Given the description of an element on the screen output the (x, y) to click on. 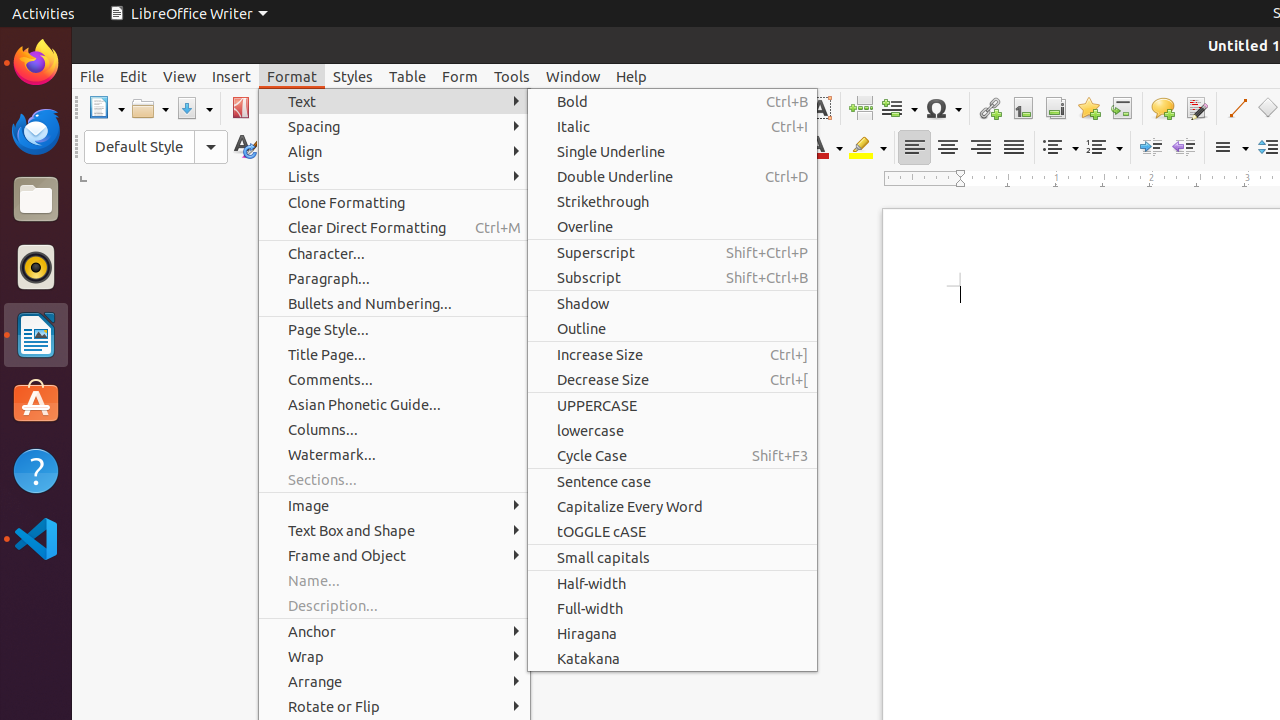
Line Element type: toggle-button (1236, 108)
Sentence case Element type: menu-item (672, 481)
File Element type: menu (92, 76)
Files Element type: push-button (36, 199)
Visual Studio Code Element type: push-button (36, 538)
